Given the description of an element on the screen output the (x, y) to click on. 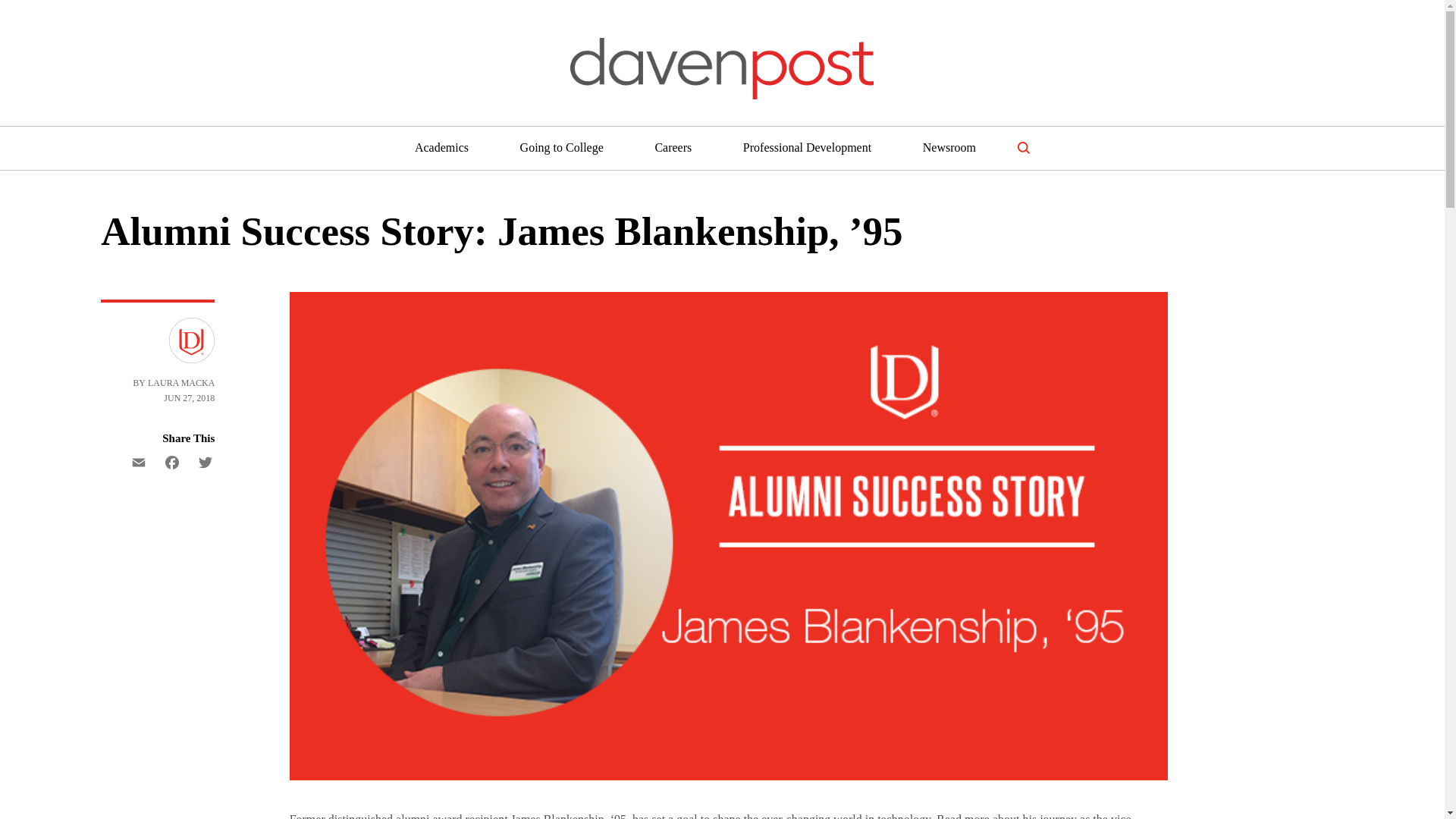
Twitter (201, 464)
Going to College (561, 147)
TWITTER (201, 464)
Facebook (172, 464)
EMAIL (138, 464)
Skip to content (26, 12)
Email (138, 464)
Careers (672, 147)
Professional Development (806, 147)
Newsroom (949, 147)
FACEBOOK (172, 464)
Academics (441, 147)
